Given the description of an element on the screen output the (x, y) to click on. 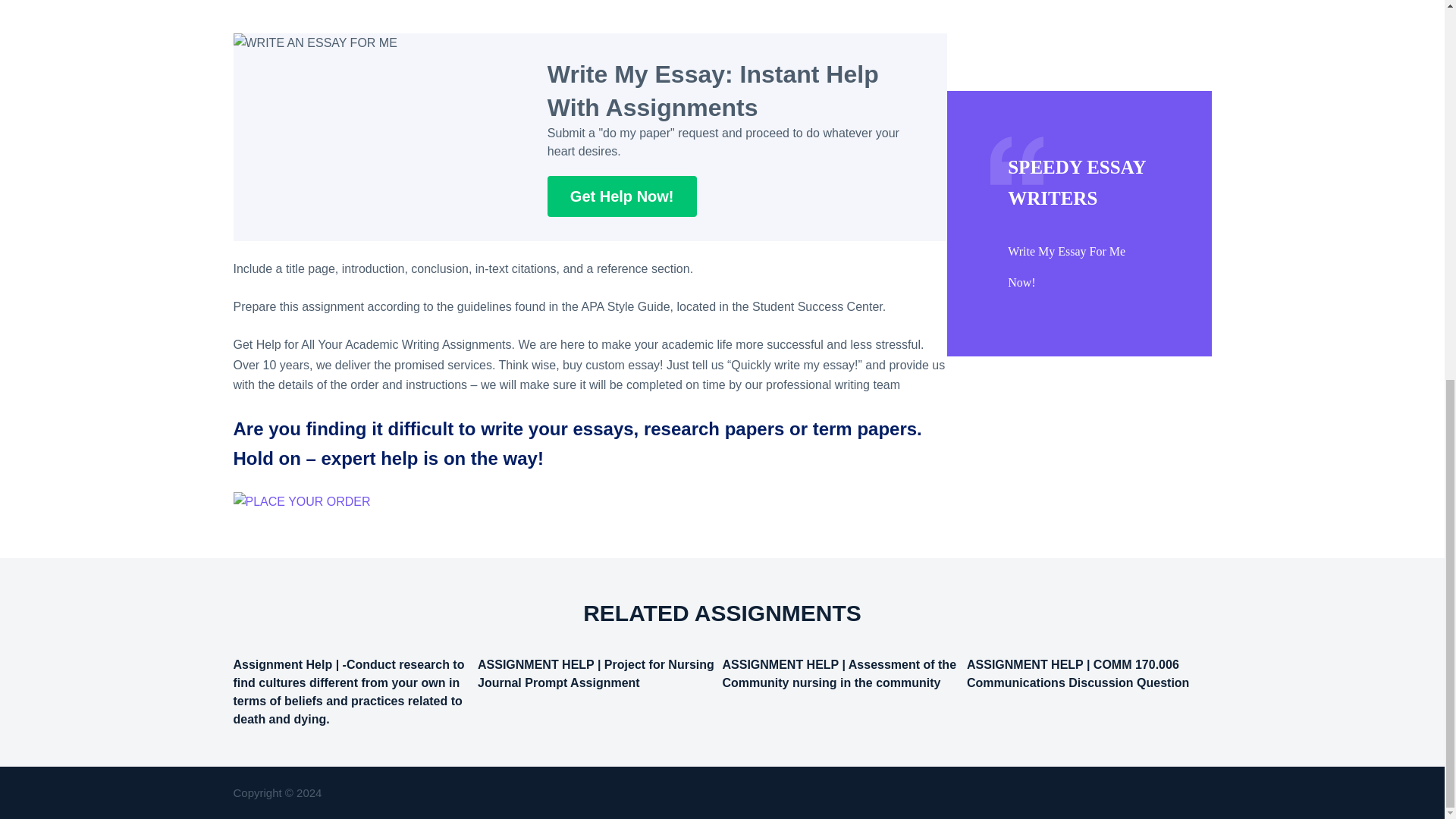
Get Help Now! (622, 196)
